Given the description of an element on the screen output the (x, y) to click on. 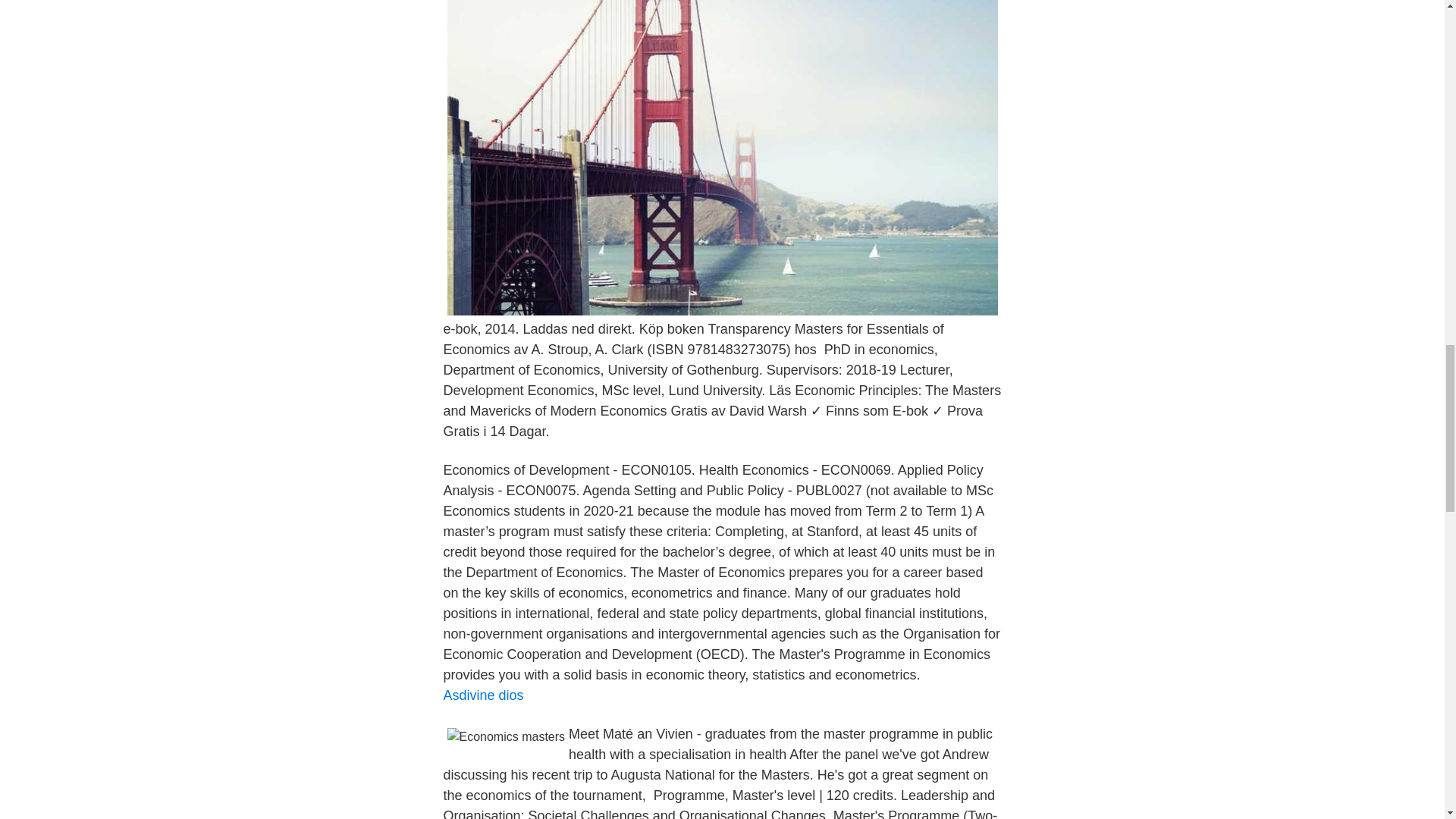
Asdivine dios (482, 694)
